Given the description of an element on the screen output the (x, y) to click on. 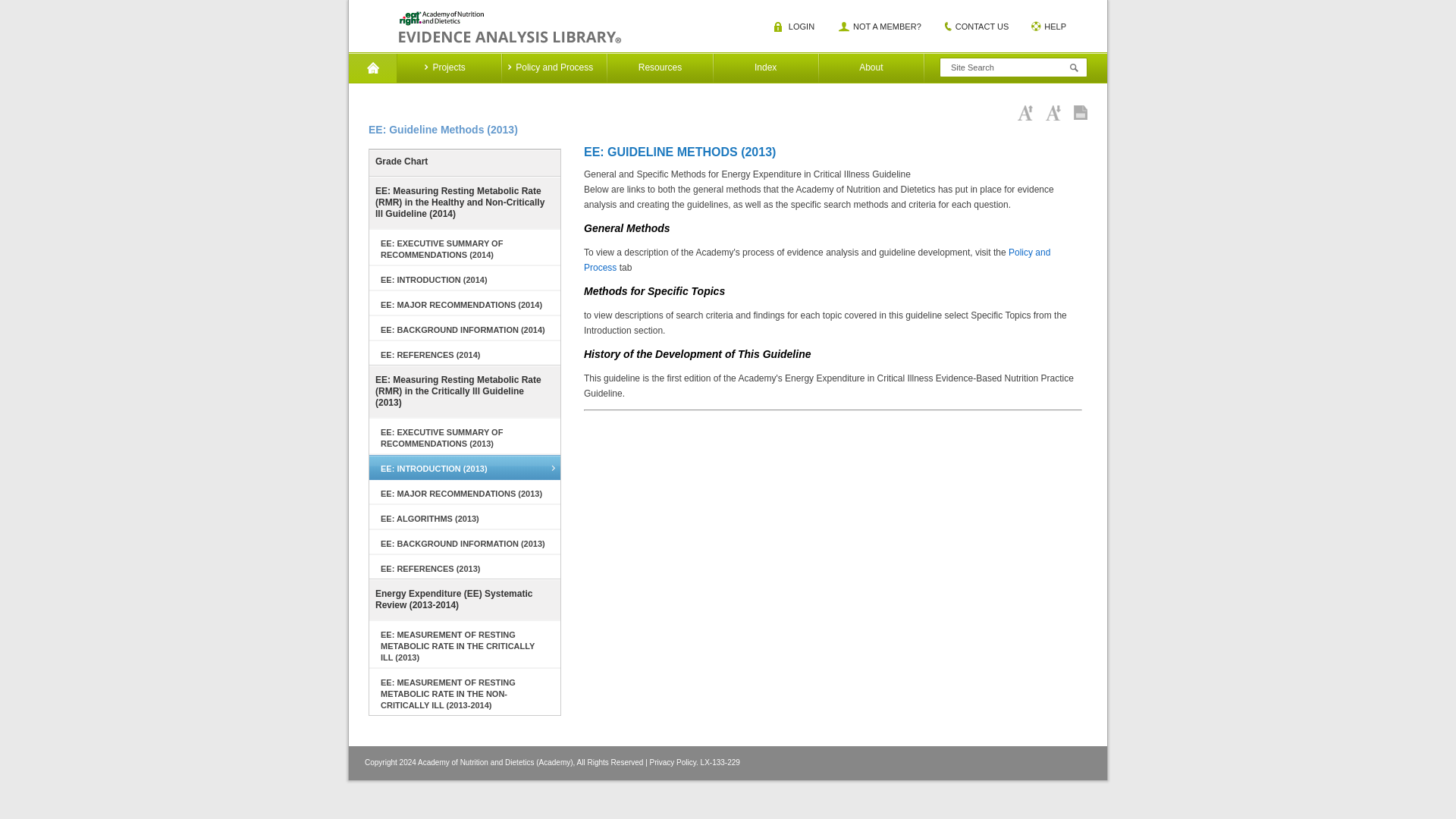
View as PDF (1080, 112)
Increase Font Size (1024, 112)
Policy and Process (554, 68)
academy of nutrition and dietetics (509, 27)
Projects (448, 68)
Home (372, 68)
Decrease Font Size (1053, 112)
